Given the description of an element on the screen output the (x, y) to click on. 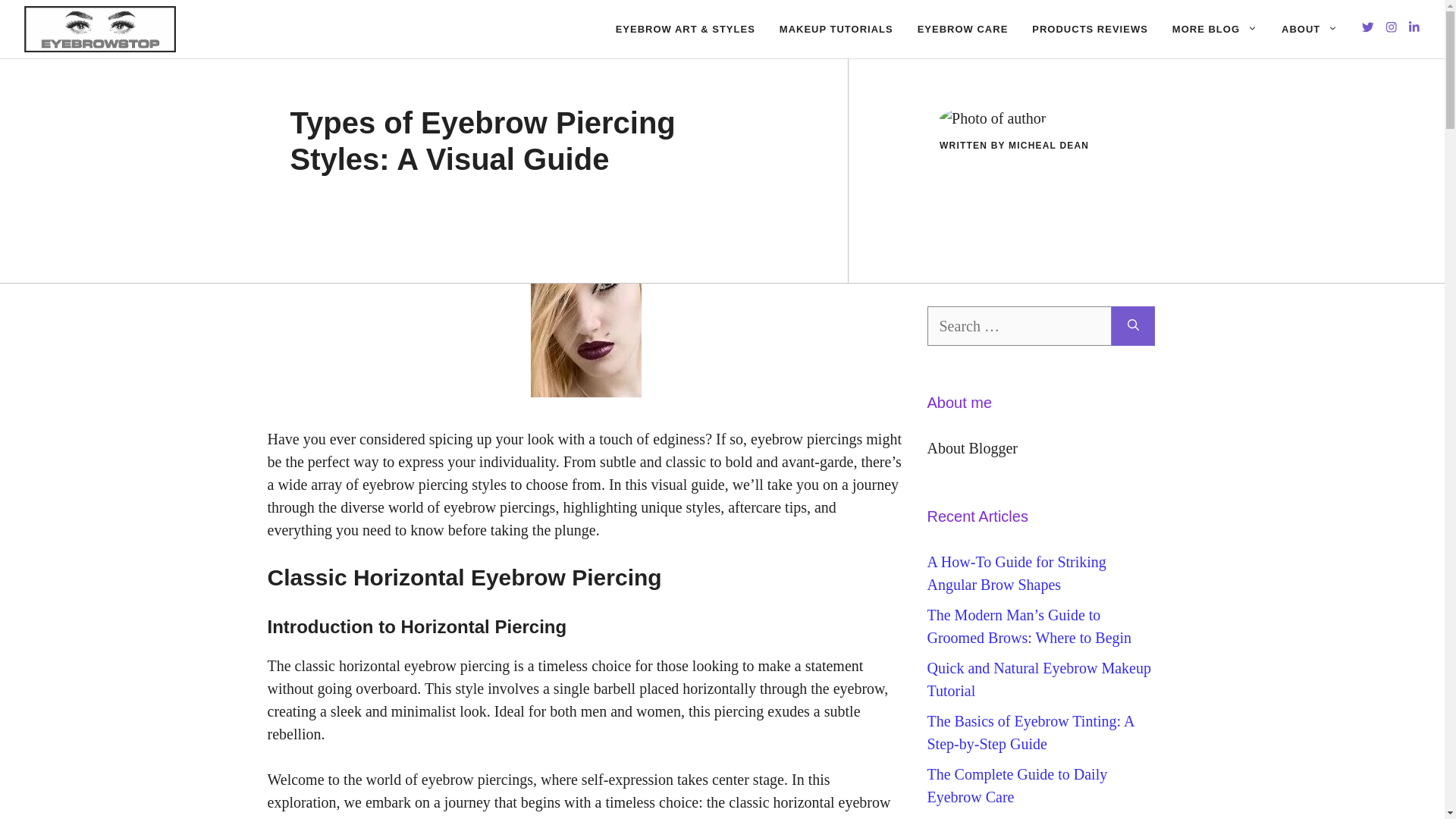
The Basics of Eyebrow Tinting: A Step-by-Step Guide (1030, 732)
A How-To Guide for Striking Angular Brow Shapes (1015, 572)
MAKEUP TUTORIALS (836, 29)
Search for: (1018, 325)
MORE BLOG (1214, 29)
The Complete Guide to Daily Eyebrow Care (1016, 785)
ABOUT (1309, 29)
PRODUCTS REVIEWS (1090, 29)
EYEBROW CARE (962, 29)
Quick and Natural Eyebrow Makeup Tutorial (1038, 679)
